Given the description of an element on the screen output the (x, y) to click on. 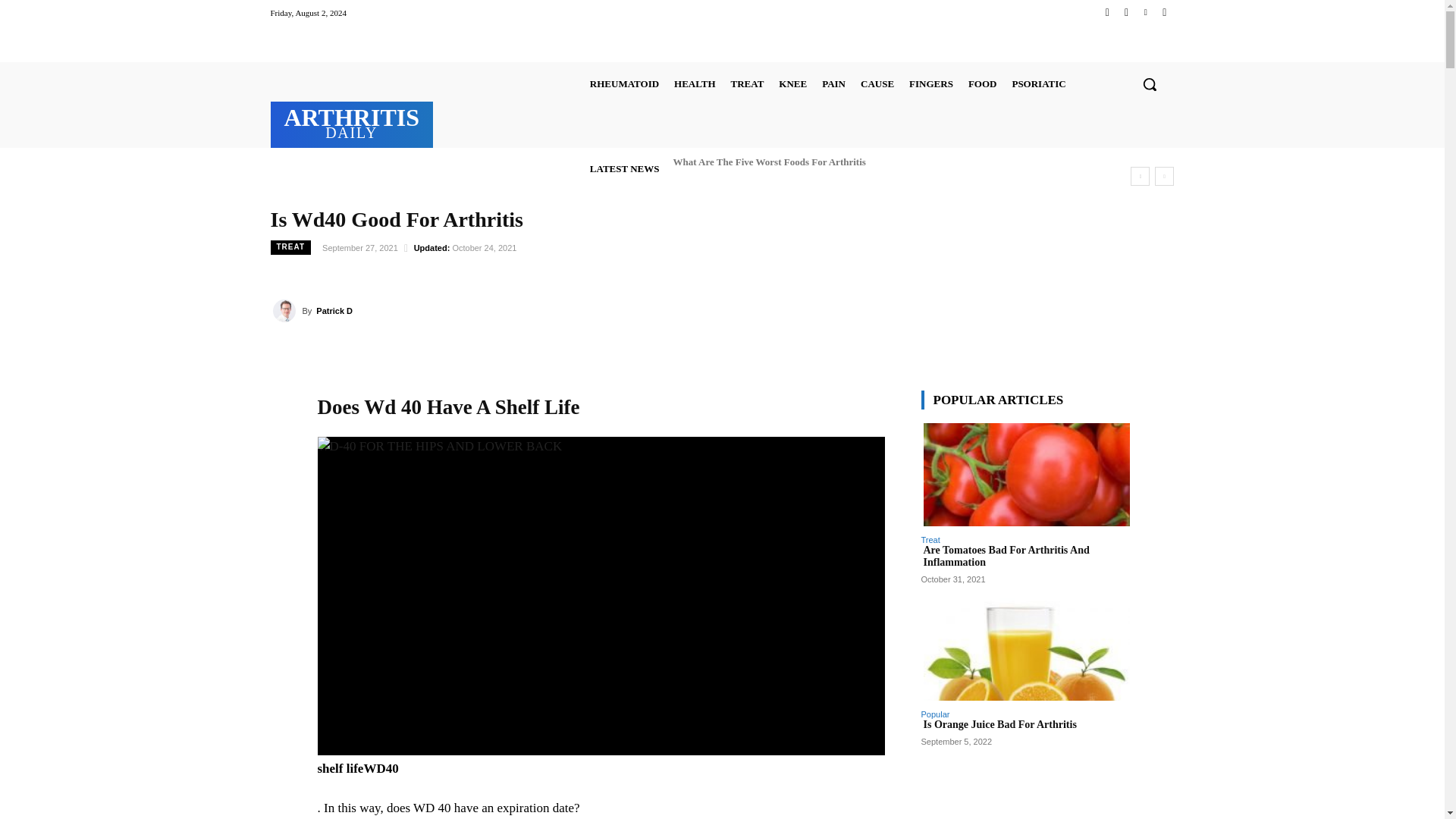
Facebook (1106, 12)
